Given the description of an element on the screen output the (x, y) to click on. 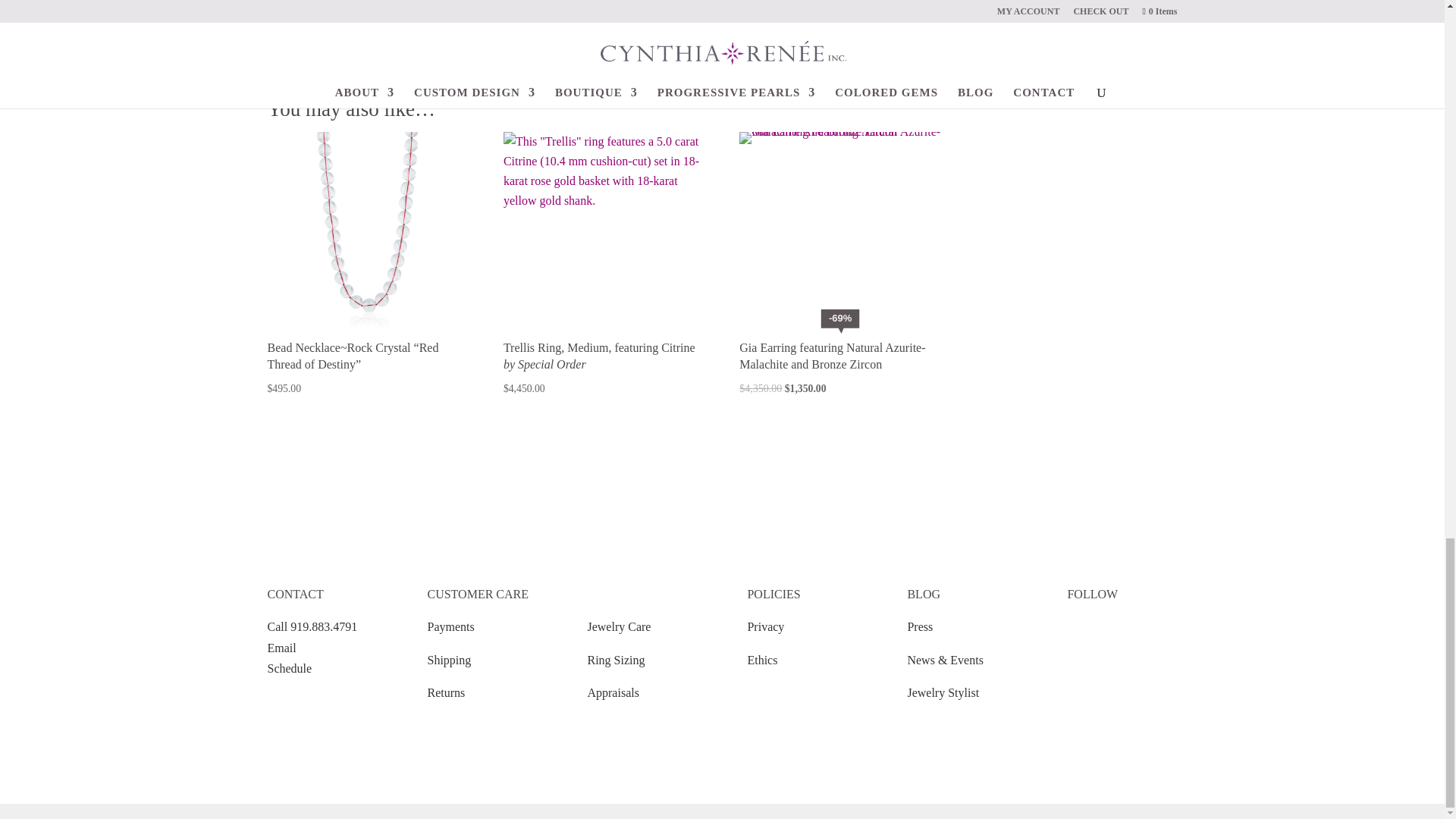
Follow on Facebook (1078, 641)
Follow on Instagram (1109, 641)
Follow on Youtube (1138, 641)
